Given the description of an element on the screen output the (x, y) to click on. 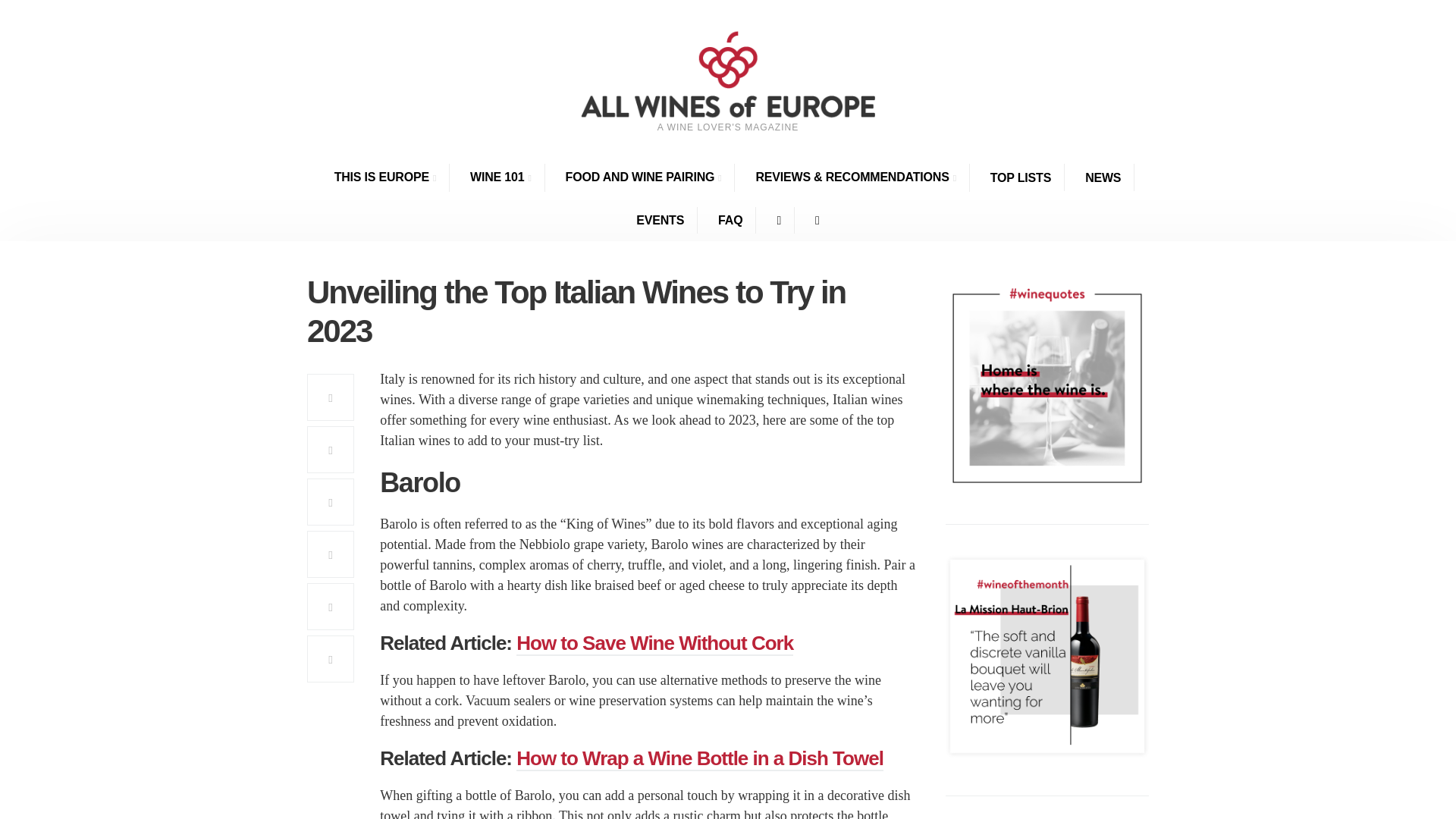
Share on Pinterest (330, 501)
WINE 101 (500, 177)
A WINE LOVER'S MAGAZINE (727, 99)
Share on Twitter (330, 449)
Share on Facebook (330, 396)
FOOD AND WINE PAIRING (644, 177)
Share by Email (330, 606)
THIS IS EUROPE (384, 177)
Comments (330, 658)
